Given the description of an element on the screen output the (x, y) to click on. 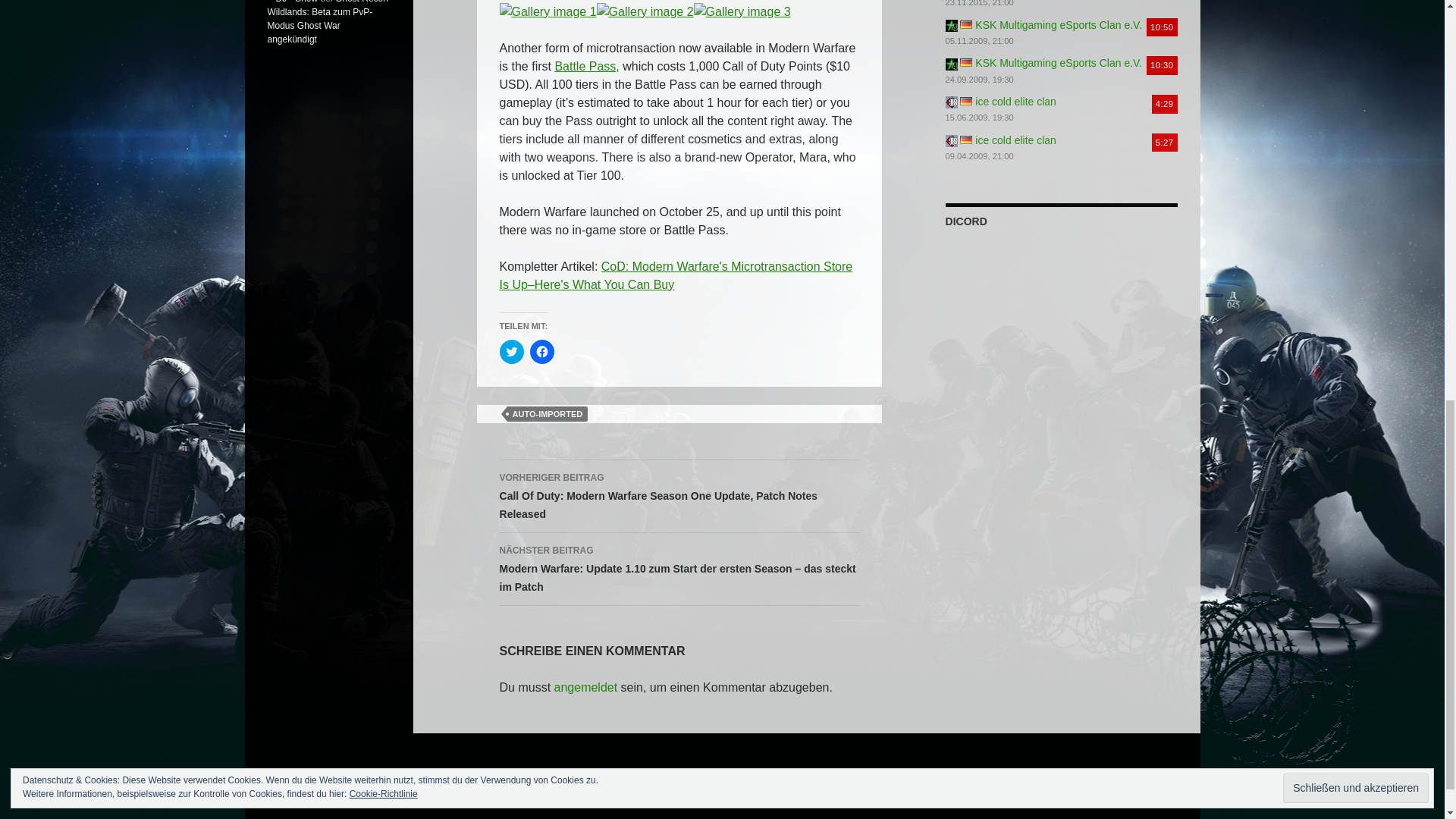
angemeldet (585, 686)
Klick, um auf Facebook zu teilen (541, 351)
Battle Pass, (586, 65)
AUTO-IMPORTED (547, 413)
